Given the description of an element on the screen output the (x, y) to click on. 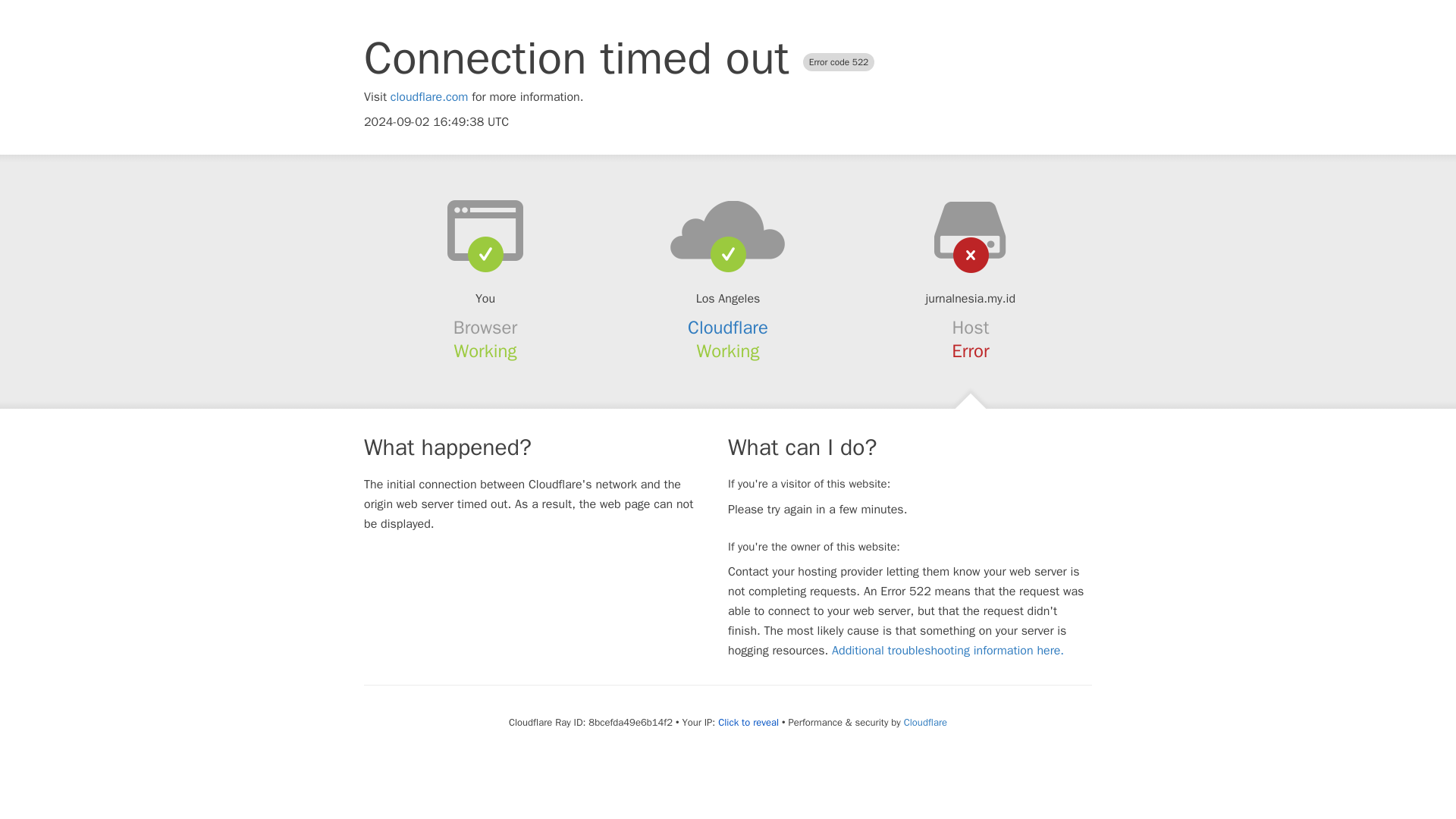
Cloudflare (727, 327)
Click to reveal (747, 722)
Additional troubleshooting information here. (947, 650)
cloudflare.com (429, 96)
Cloudflare (925, 721)
